Given the description of an element on the screen output the (x, y) to click on. 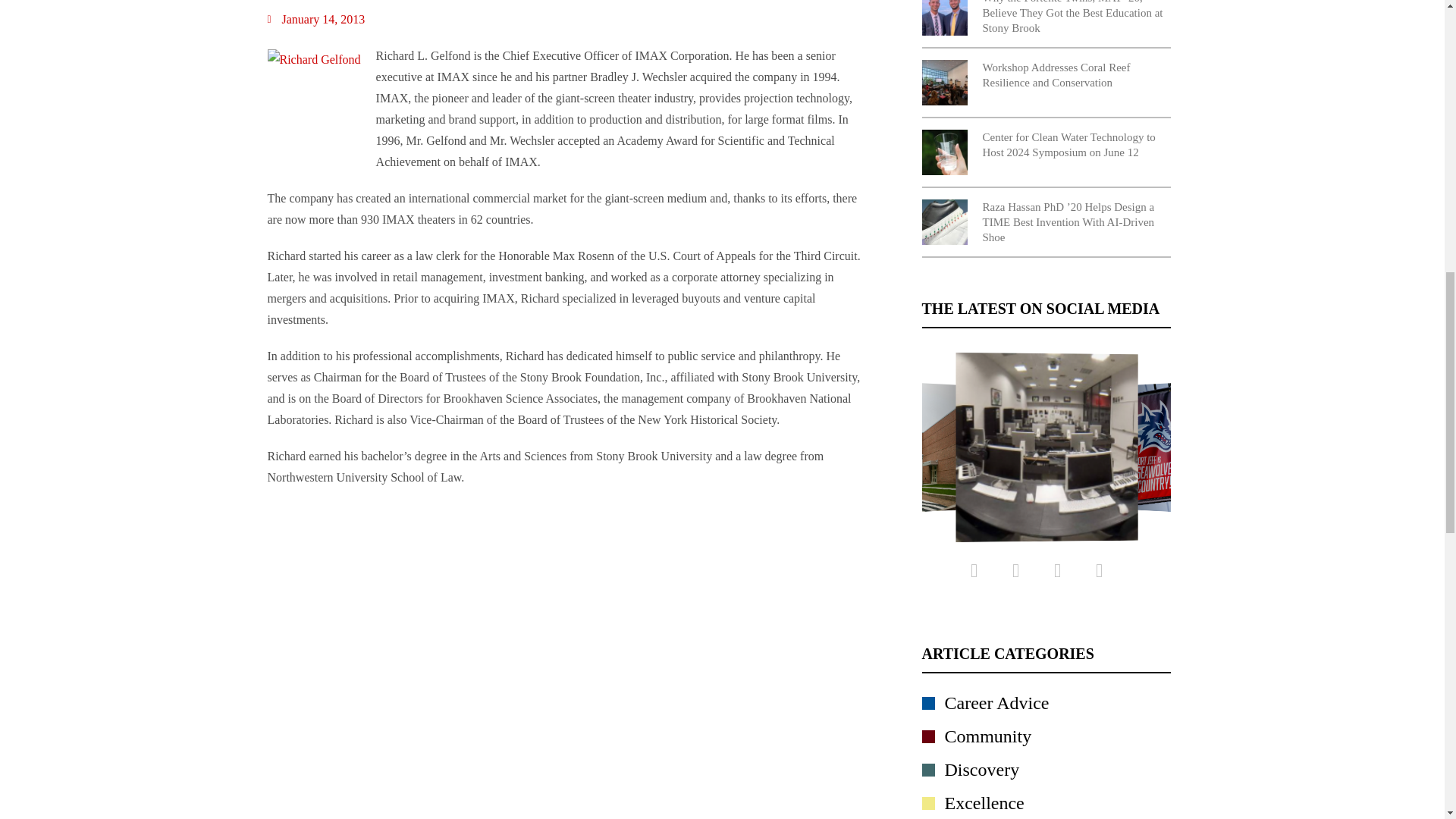
January 14, 2013 (315, 19)
